Given the description of an element on the screen output the (x, y) to click on. 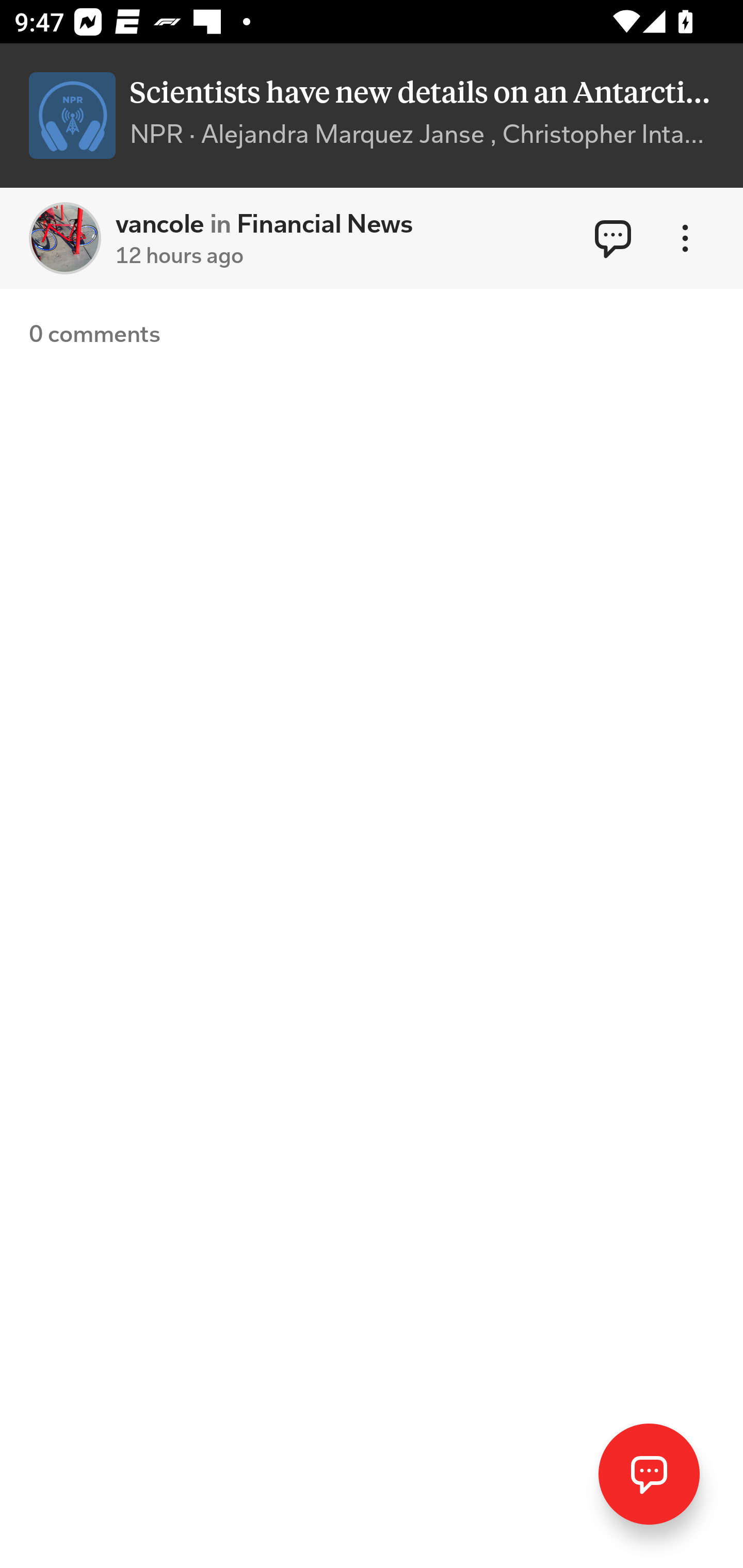
vancole (64, 238)
